Given the description of an element on the screen output the (x, y) to click on. 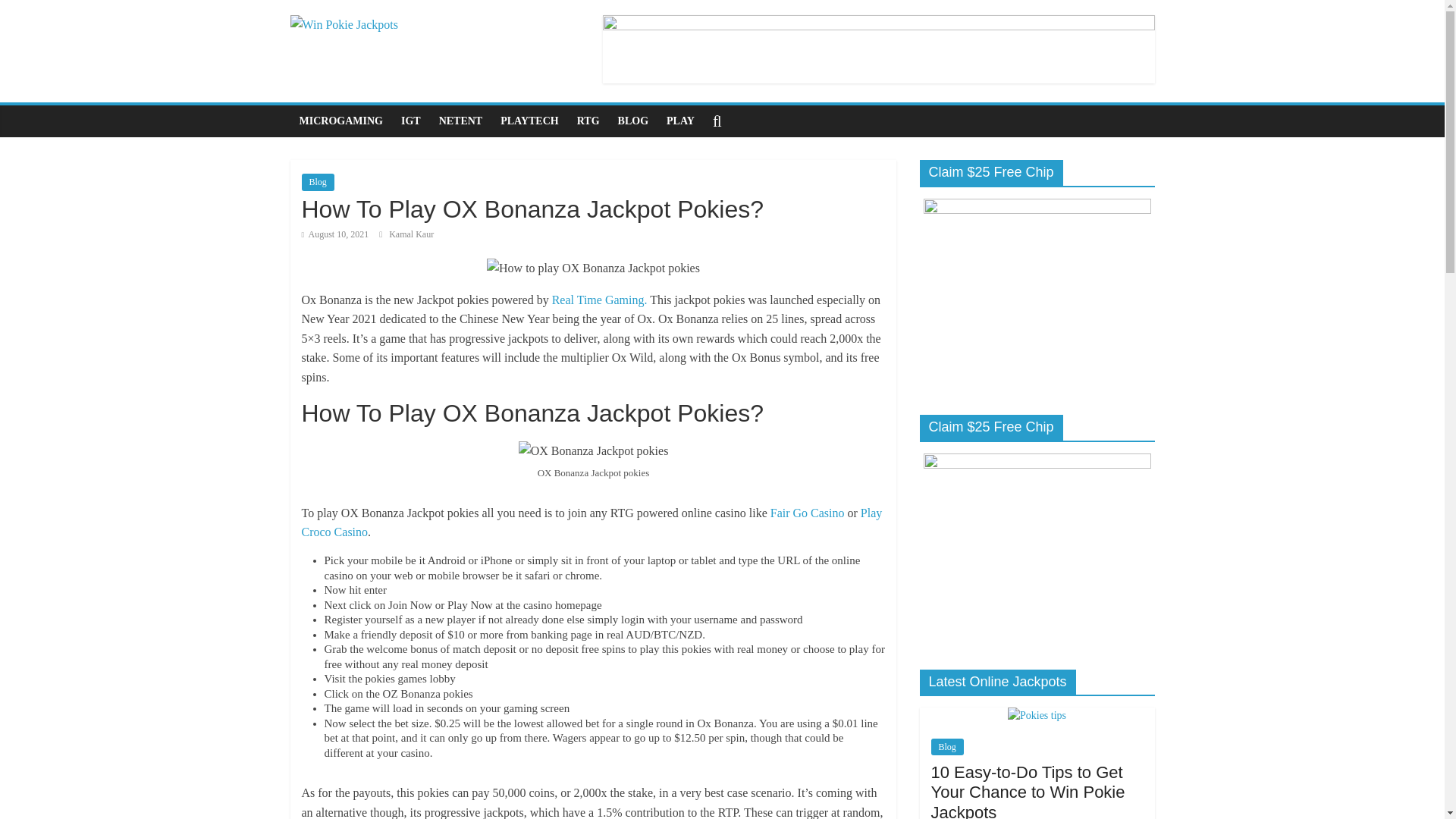
7:44 am (335, 234)
NETENT (460, 121)
Kamal Kaur (410, 234)
Real Time Gaming. (599, 299)
MICROGAMING (340, 121)
Blog (317, 181)
BLOG (633, 121)
August 10, 2021 (335, 234)
Fair Go Casino (807, 512)
Kamal Kaur (410, 234)
